Given the description of an element on the screen output the (x, y) to click on. 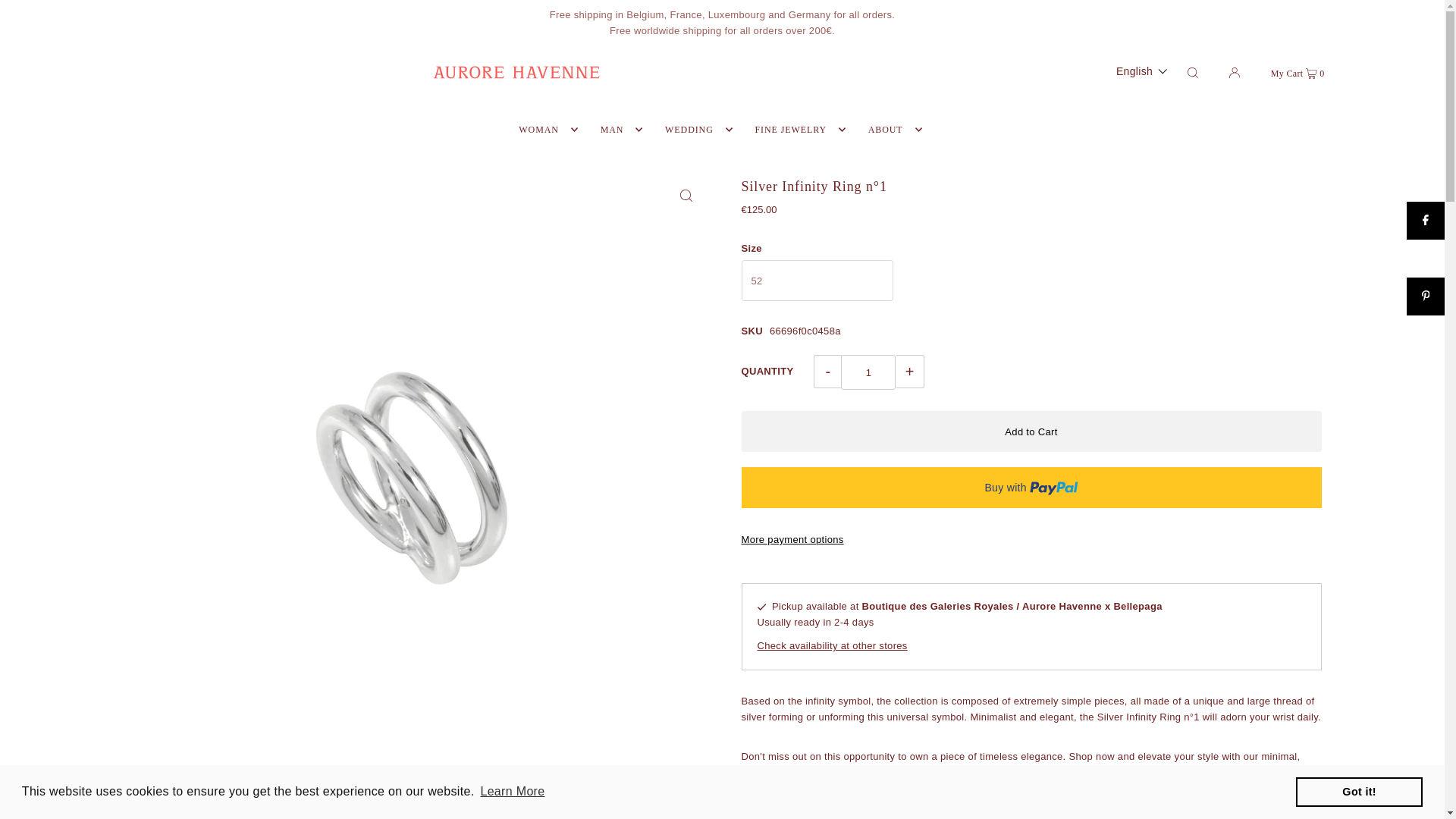
Click to zoom (685, 804)
WOMAN (544, 129)
Learn More (512, 791)
1 (868, 371)
Add to Cart (1031, 431)
Got it! (1358, 791)
Click to zoom (685, 195)
